Given the description of an element on the screen output the (x, y) to click on. 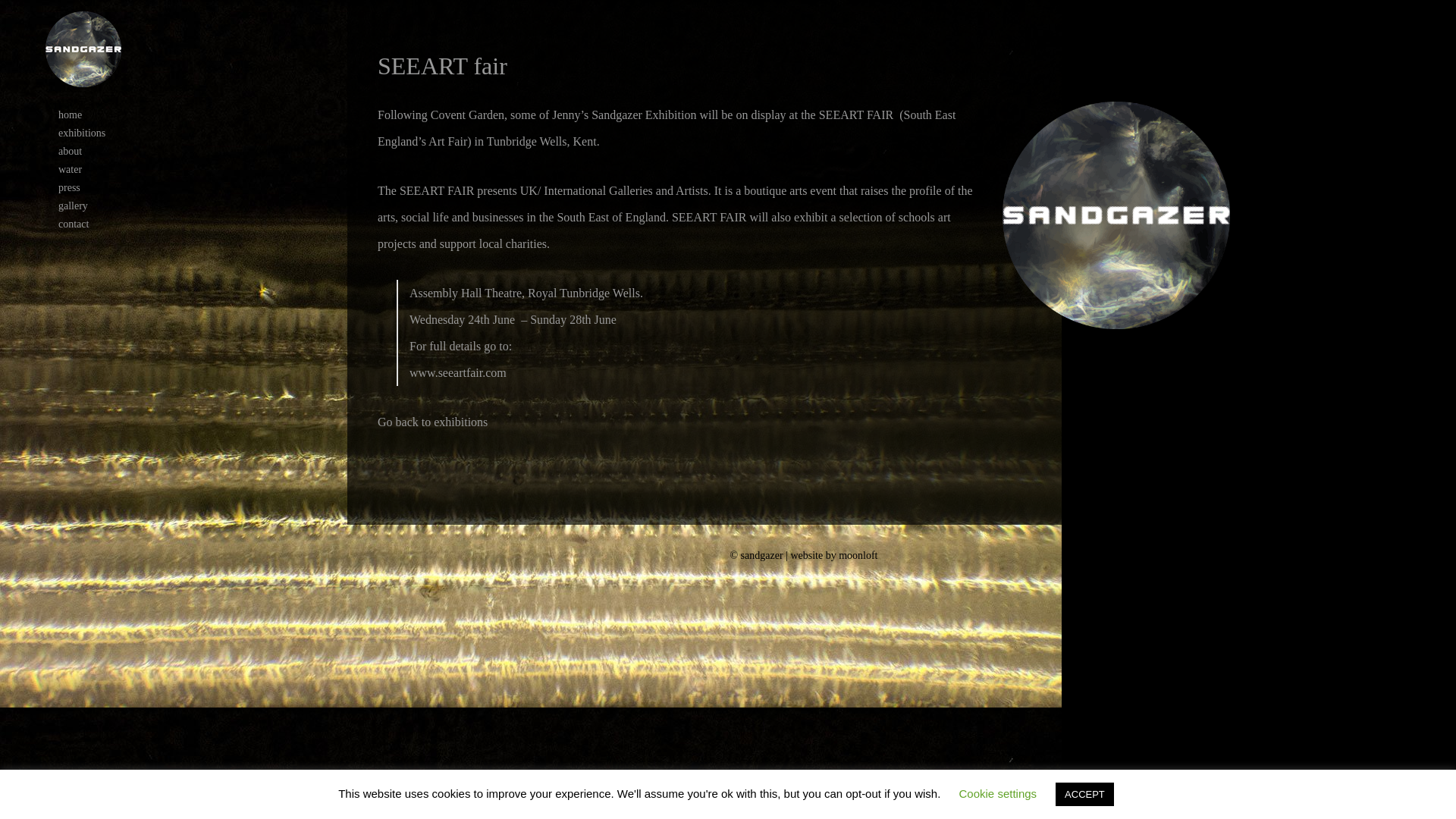
moonloft (857, 555)
gallery (82, 206)
Covent Garden (466, 114)
press (82, 188)
home (82, 115)
Sandgazer (82, 48)
about (82, 151)
water (82, 169)
contact (82, 224)
Go back to exhibitions (432, 421)
www.seeartfair.com (457, 372)
exhibitions (82, 133)
